Given the description of an element on the screen output the (x, y) to click on. 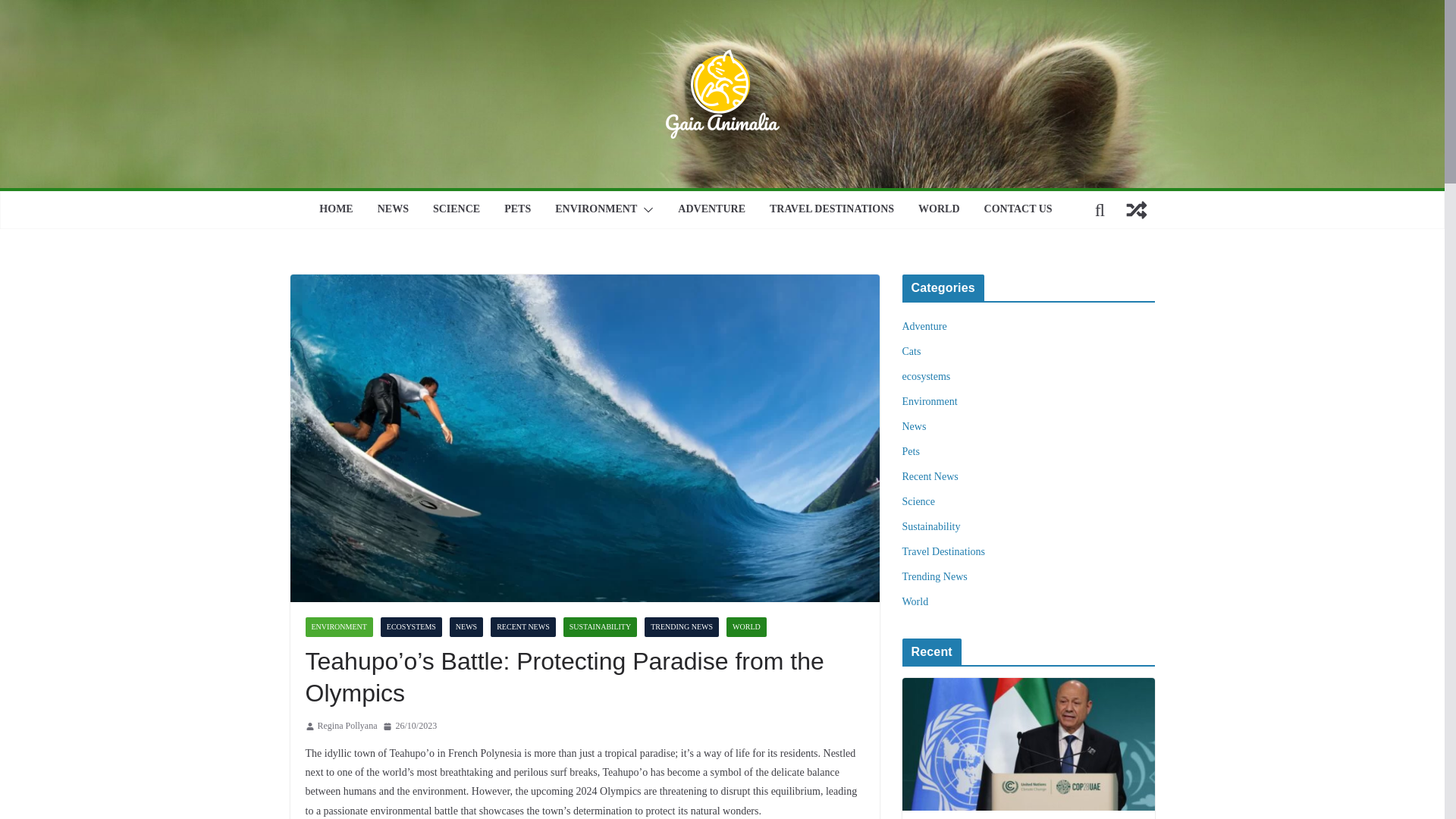
RECENT NEWS (523, 627)
6h52 (409, 726)
PETS (517, 210)
ENVIRONMENT (338, 627)
TRAVEL DESTINATIONS (831, 210)
NEWS (393, 210)
NEWS (466, 627)
SUSTAINABILITY (600, 627)
ADVENTURE (711, 210)
Regina Pollyana (347, 726)
SCIENCE (456, 210)
View a random post (1136, 209)
CONTACT US (1018, 210)
